Given the description of an element on the screen output the (x, y) to click on. 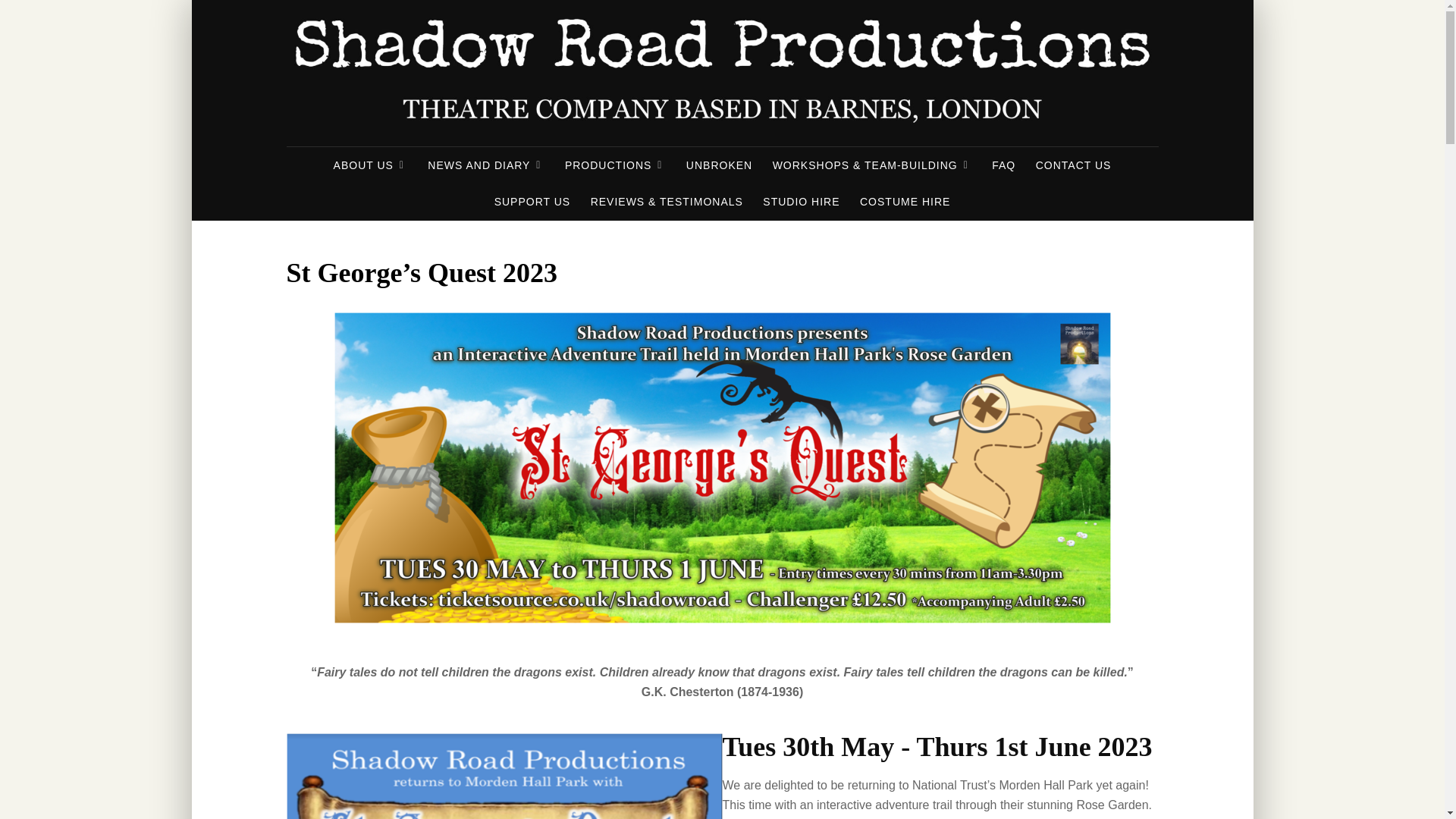
SUPPORT US (532, 201)
FAQ (1003, 165)
PRODUCTIONS (615, 165)
UNBROKEN (719, 165)
CONTACT US (1073, 165)
ABOUT US (370, 165)
COSTUME HIRE (904, 201)
NEWS AND DIARY (486, 165)
STUDIO HIRE (800, 201)
